Given the description of an element on the screen output the (x, y) to click on. 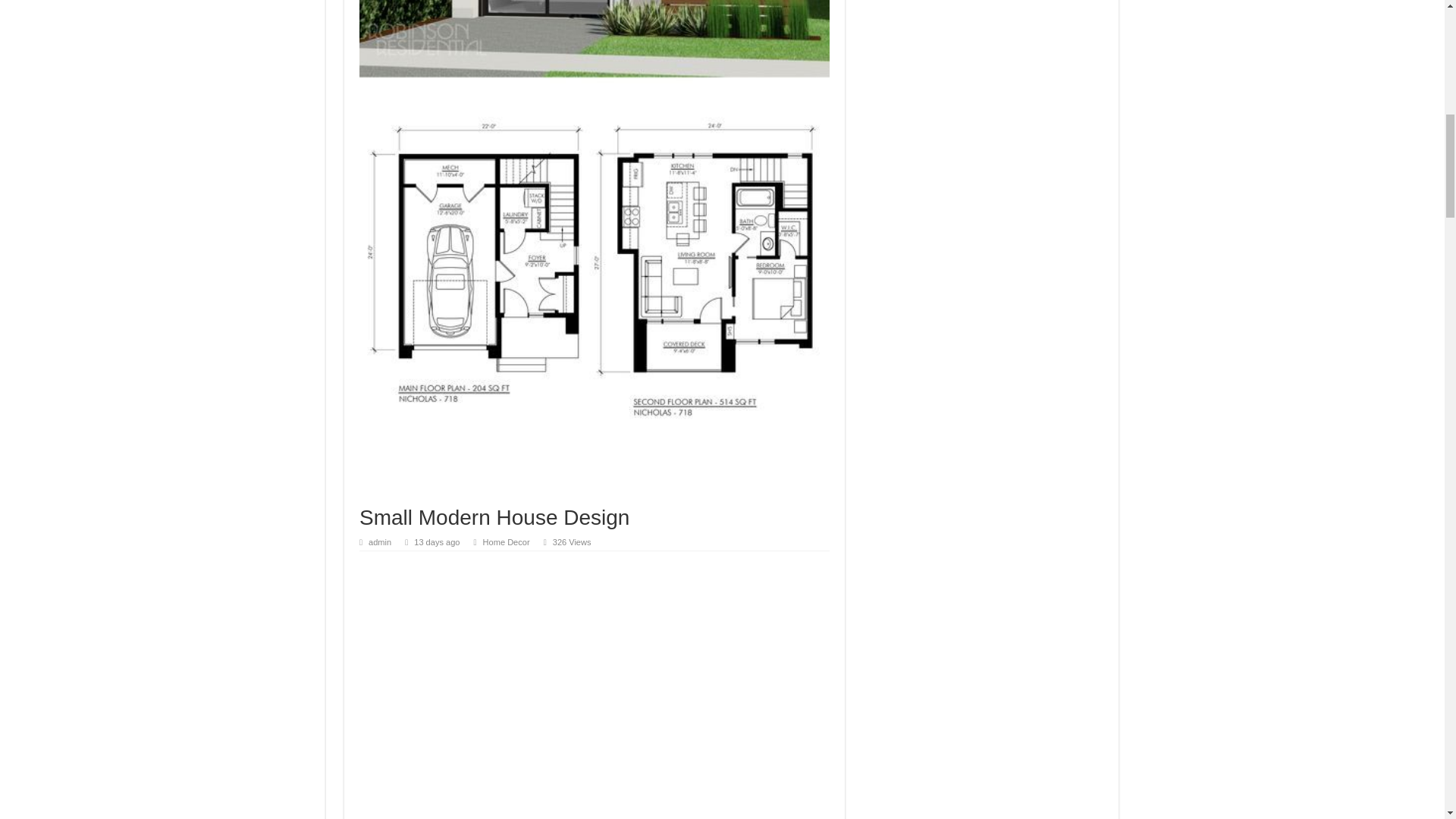
Home Decor (506, 542)
Advertisement (982, 29)
admin (379, 542)
Scroll To Top (1421, 60)
